Given the description of an element on the screen output the (x, y) to click on. 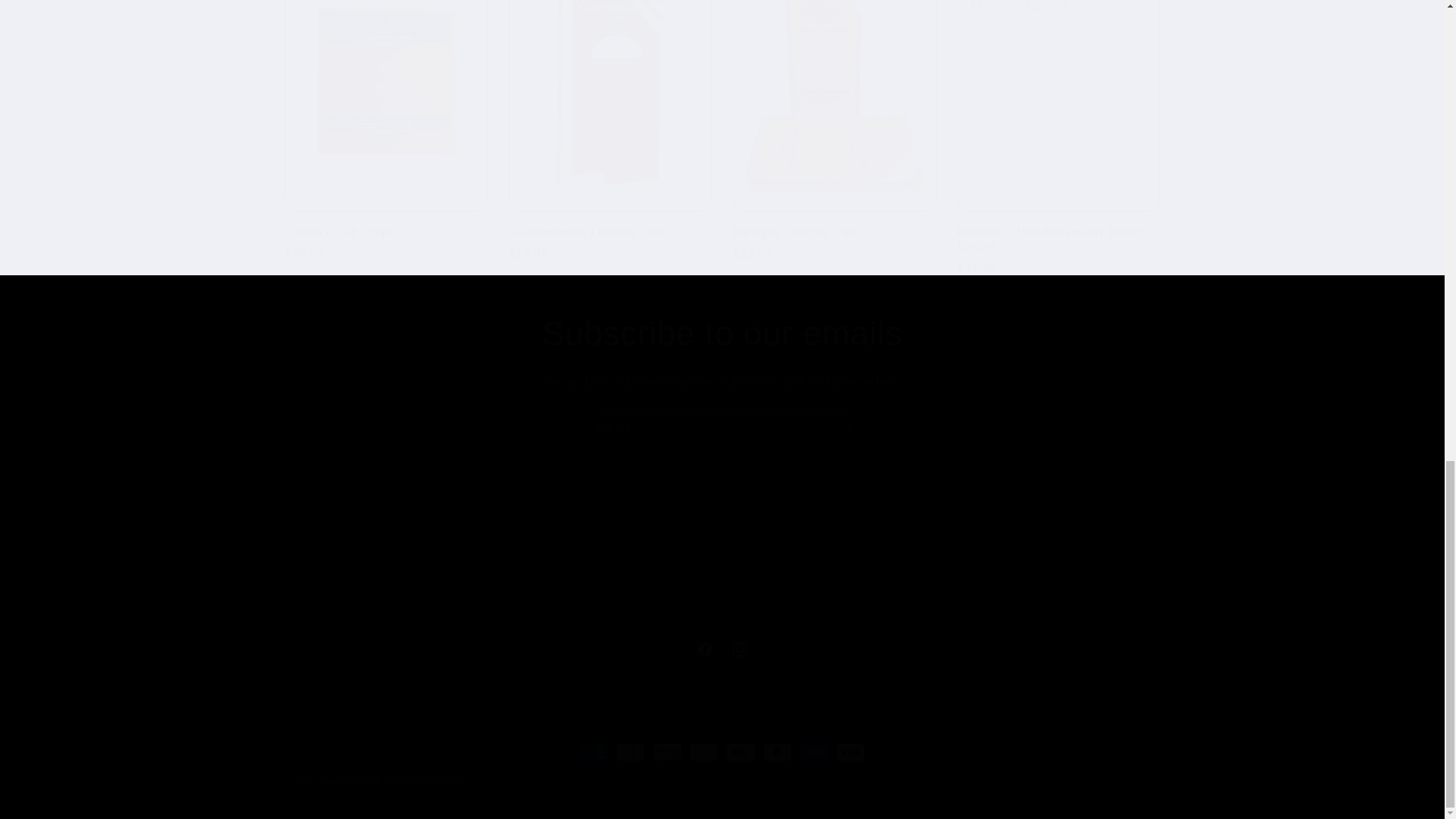
Subscribe to our emails (722, 333)
Email (721, 648)
